Given the description of an element on the screen output the (x, y) to click on. 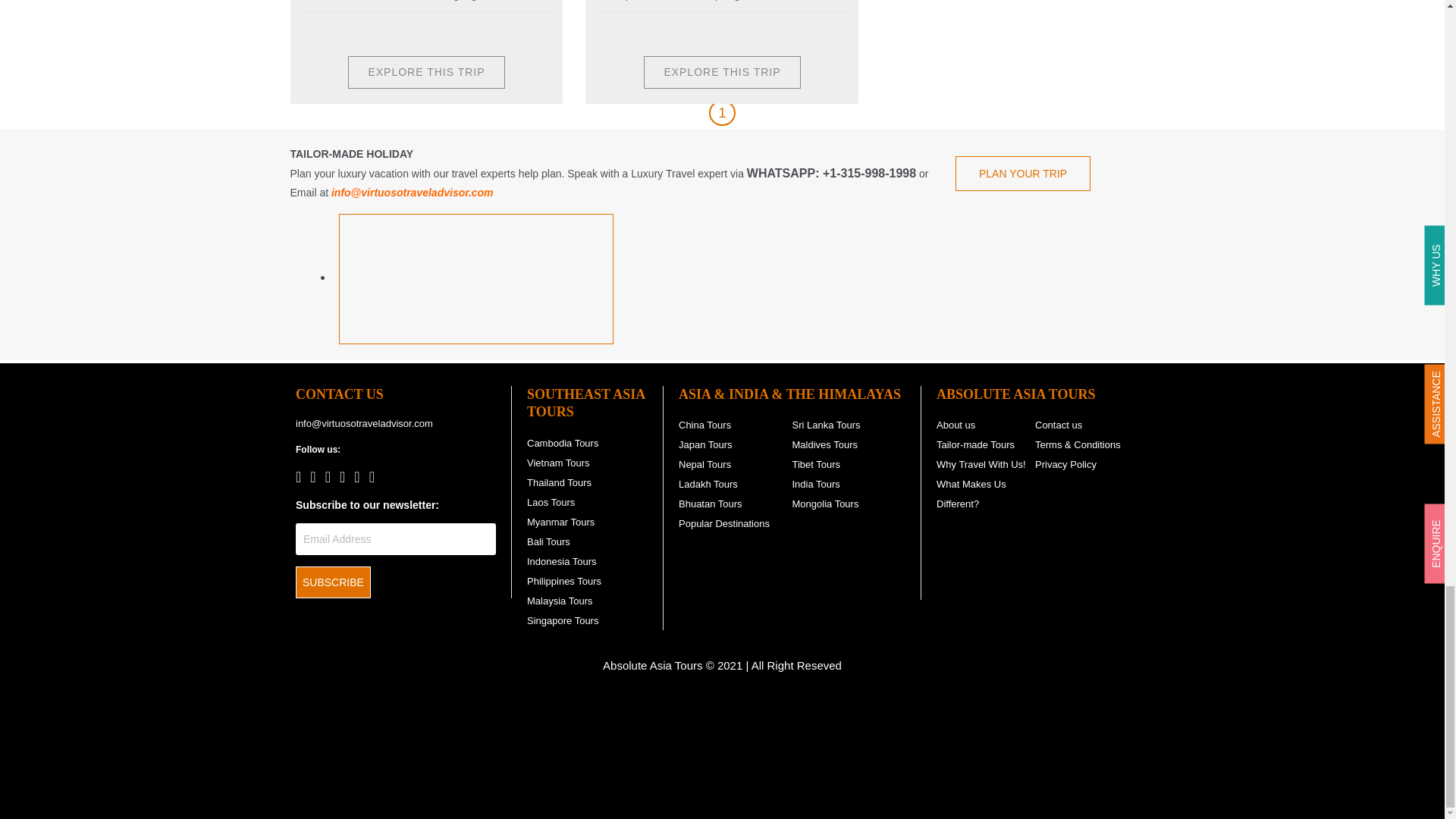
History (474, 33)
Nature (407, 33)
Heritage (374, 33)
Cuisine (441, 33)
Complete Japan (425, 72)
SUBSCRIBE (333, 582)
